Given the description of an element on the screen output the (x, y) to click on. 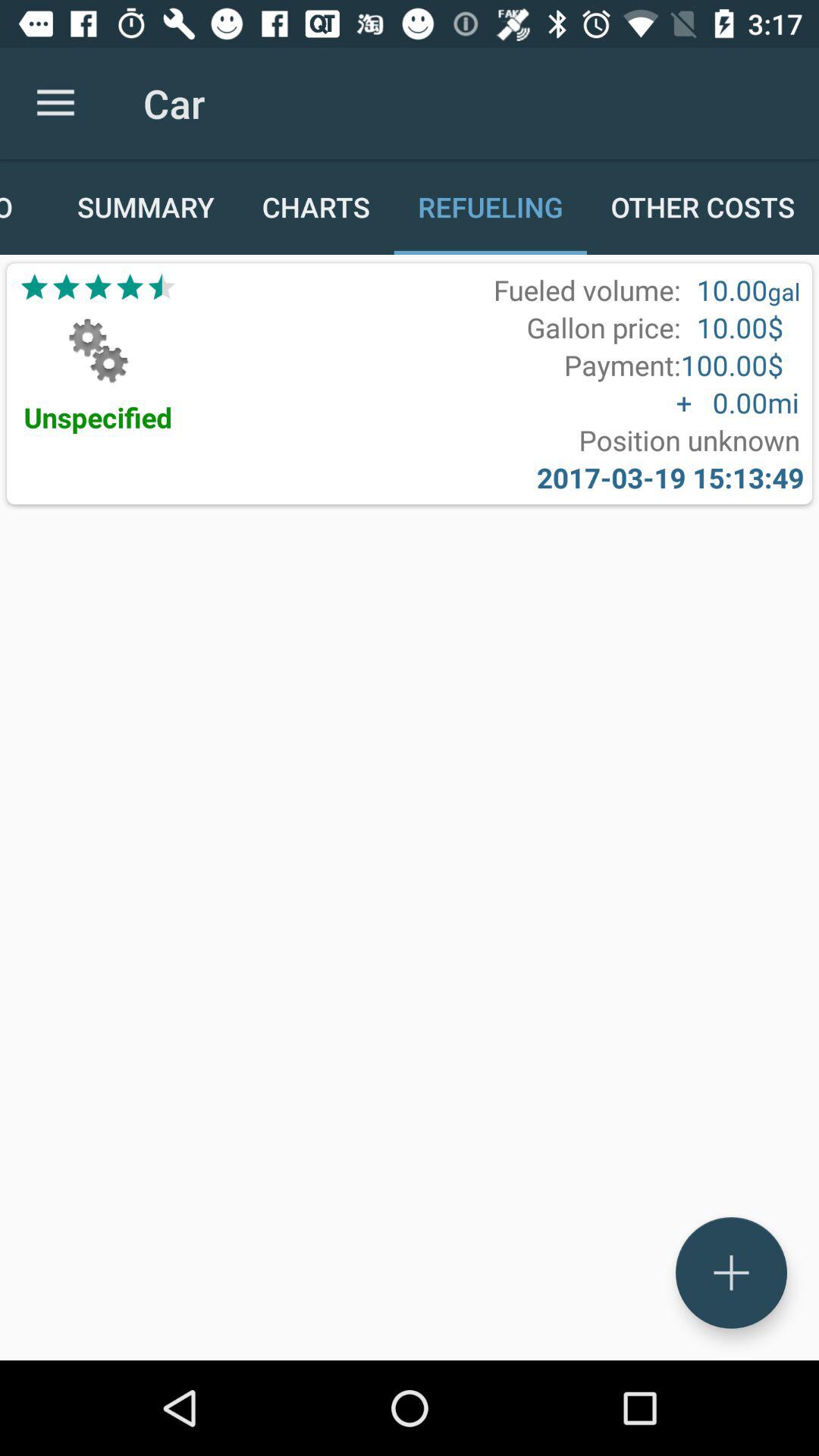
flip to 2017 03 19 icon (670, 477)
